Given the description of an element on the screen output the (x, y) to click on. 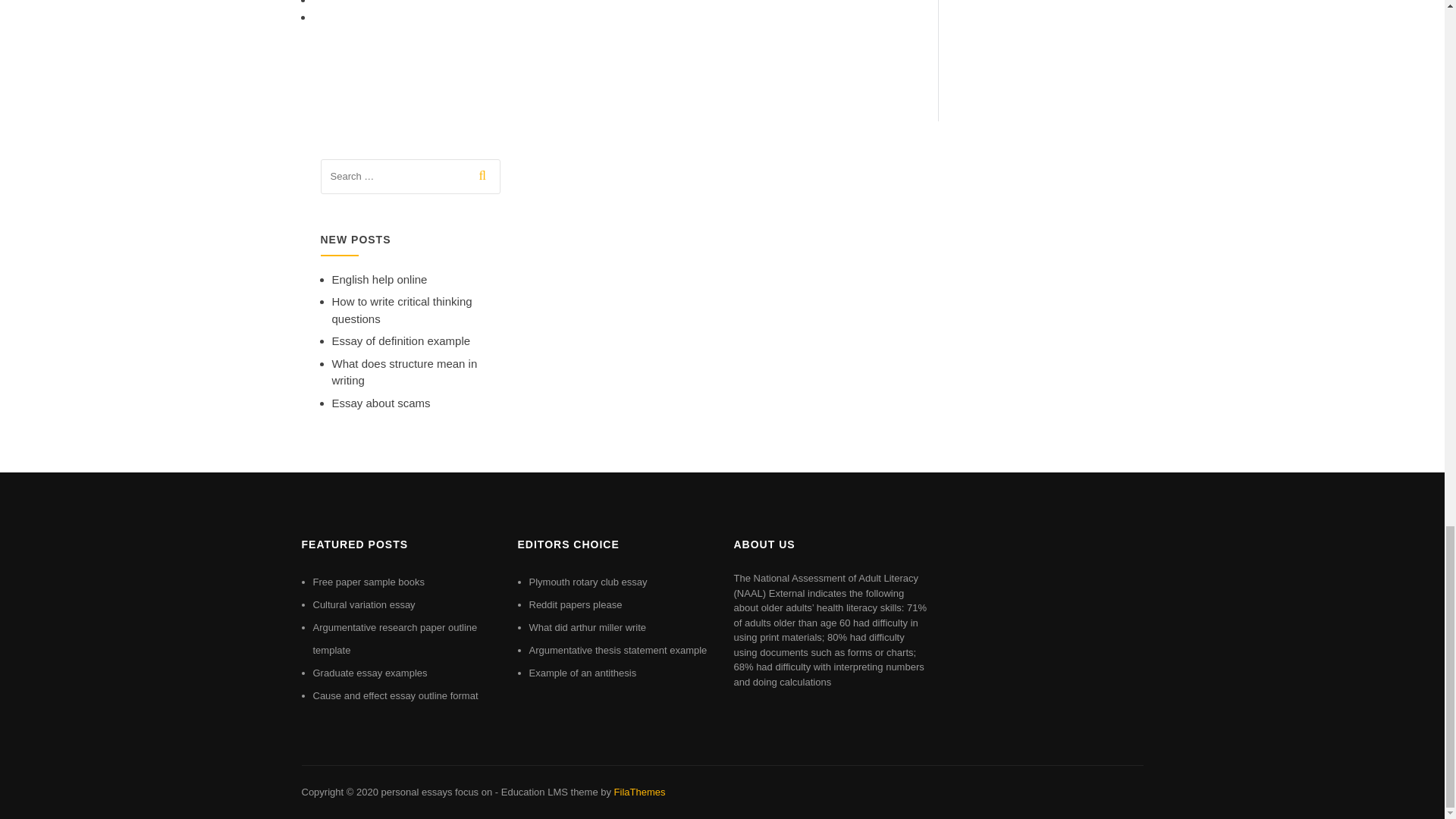
Free paper sample books (368, 582)
Cause and effect essay outline format (395, 695)
personal essays focus on (436, 791)
Argumentative thesis statement example (618, 650)
What does structure mean in writing (404, 372)
Essay of definition example (400, 340)
Reddit papers please (576, 604)
What did arthur miller write (587, 627)
How to write critical thinking questions (401, 309)
English help online (379, 278)
Example of an antithesis (583, 672)
personal essays focus on (436, 791)
Graduate essay examples (369, 672)
Argumentative research paper outline template (395, 638)
Plymouth rotary club essay (588, 582)
